Given the description of an element on the screen output the (x, y) to click on. 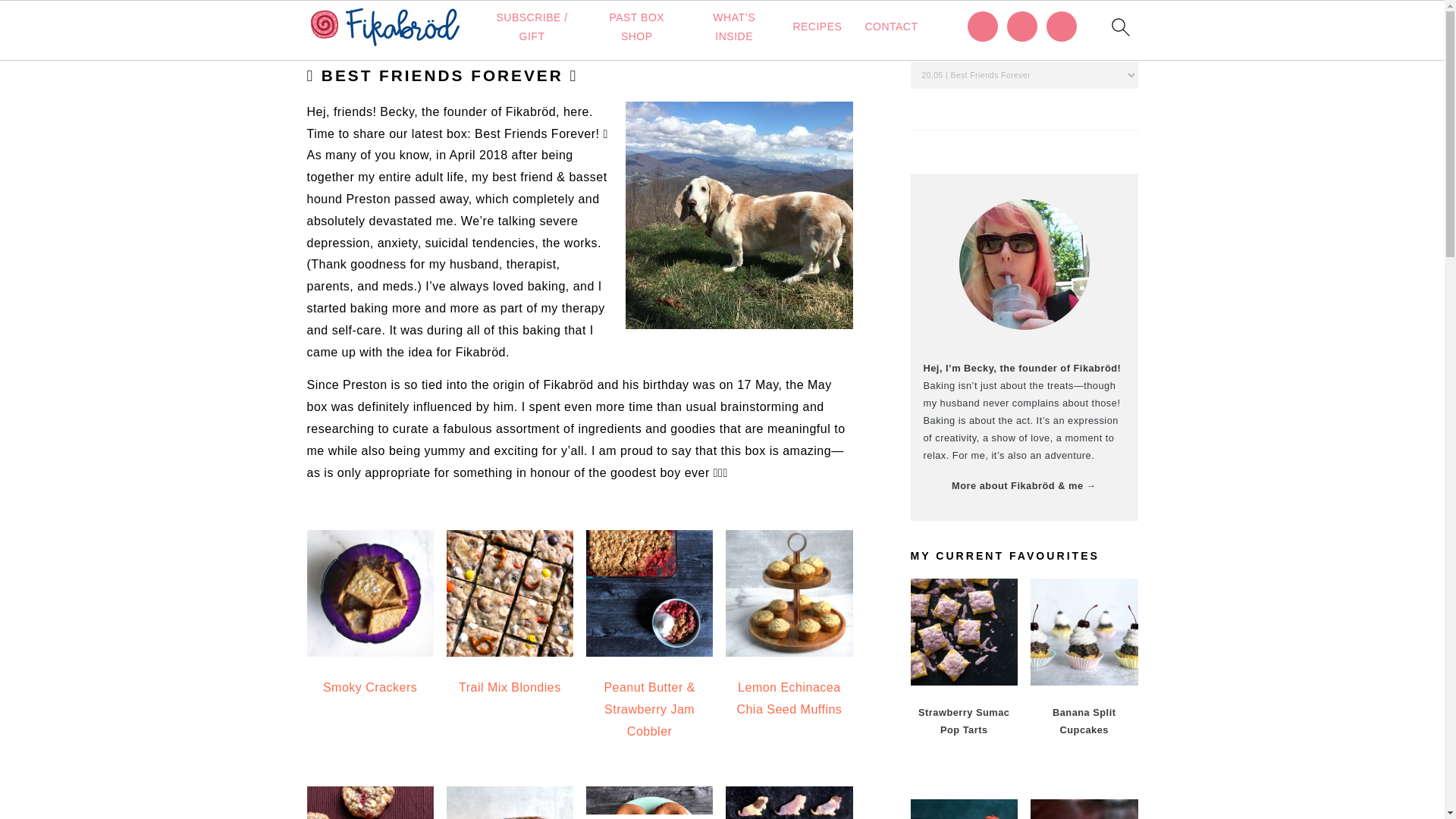
RECIPES (816, 26)
search icon (1119, 26)
PAST BOX SHOP (636, 26)
CONTACT (890, 26)
Home (322, 24)
Recipes (378, 24)
